Given the description of an element on the screen output the (x, y) to click on. 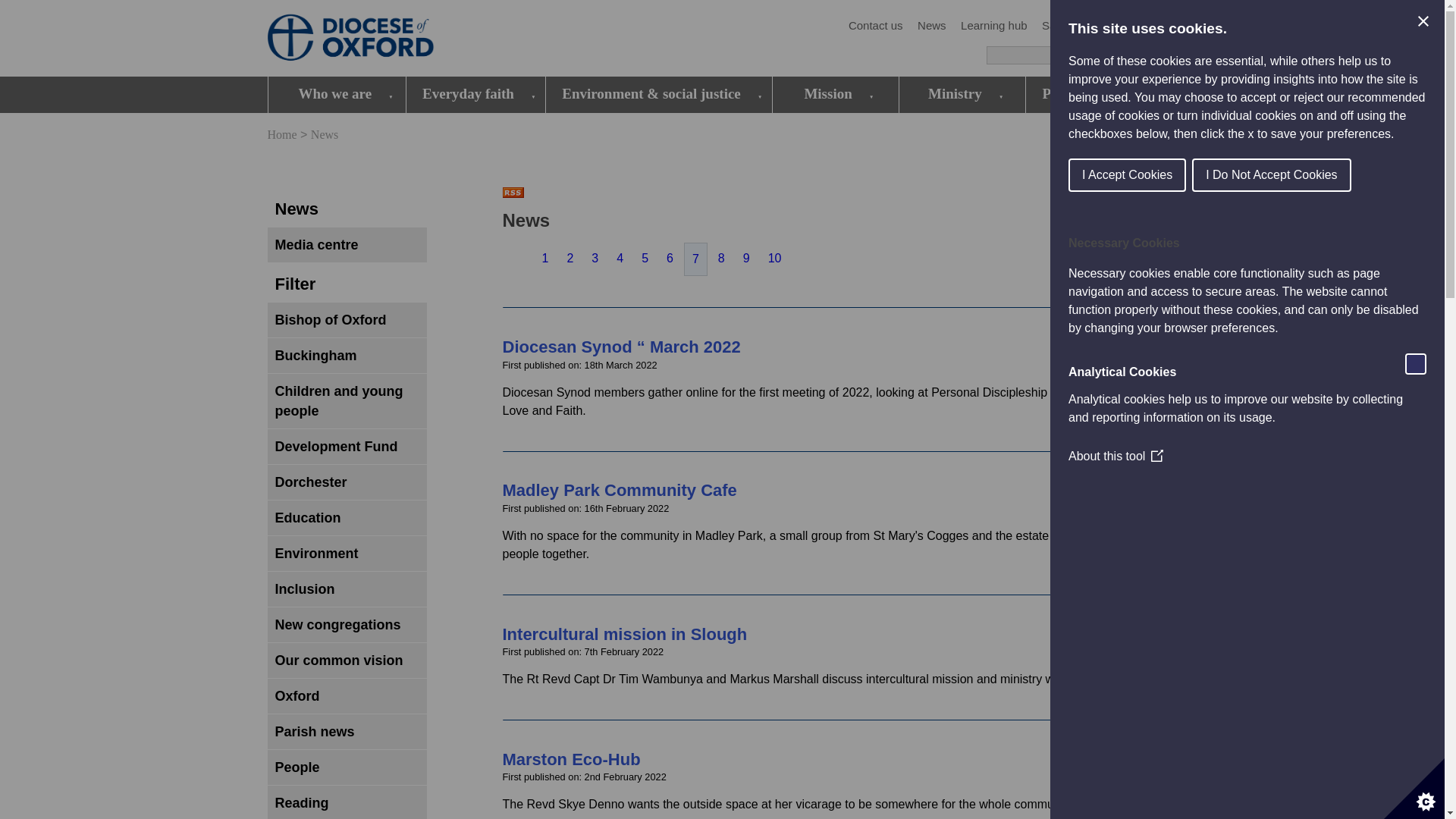
News (931, 25)
Safeguarding (1075, 25)
Contact us (875, 25)
Education (1149, 25)
Learning hub (993, 25)
I Do Not Accept Cookies (1293, 174)
I Accept Cookies (1165, 174)
Diocese of Oxford Logo (376, 39)
